Given the description of an element on the screen output the (x, y) to click on. 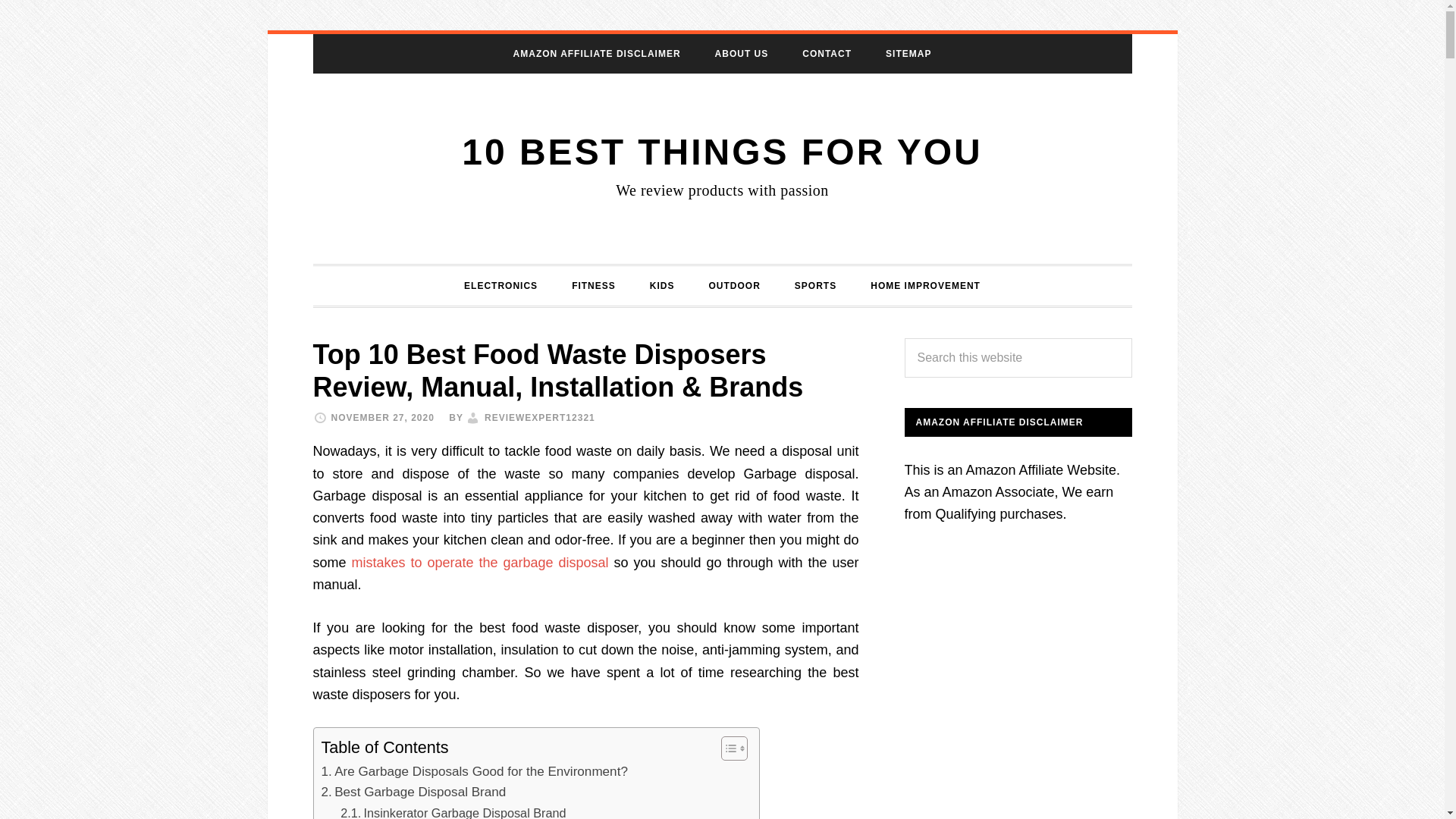
Are Garbage Disposals Good for the Environment? (474, 771)
Insinkerator Garbage Disposal Brand (453, 811)
OUTDOOR (733, 284)
Insinkerator Garbage Disposal Brand (453, 811)
SITEMAP (908, 53)
mistakes to operate the garbage disposal (480, 562)
10 BEST THINGS FOR YOU (721, 151)
AMAZON AFFILIATE DISCLAIMER (596, 53)
ELECTRONICS (500, 284)
Best Garbage Disposal Brand (413, 792)
REVIEWEXPERT12321 (539, 417)
CONTACT (826, 53)
FITNESS (593, 284)
